Given the description of an element on the screen output the (x, y) to click on. 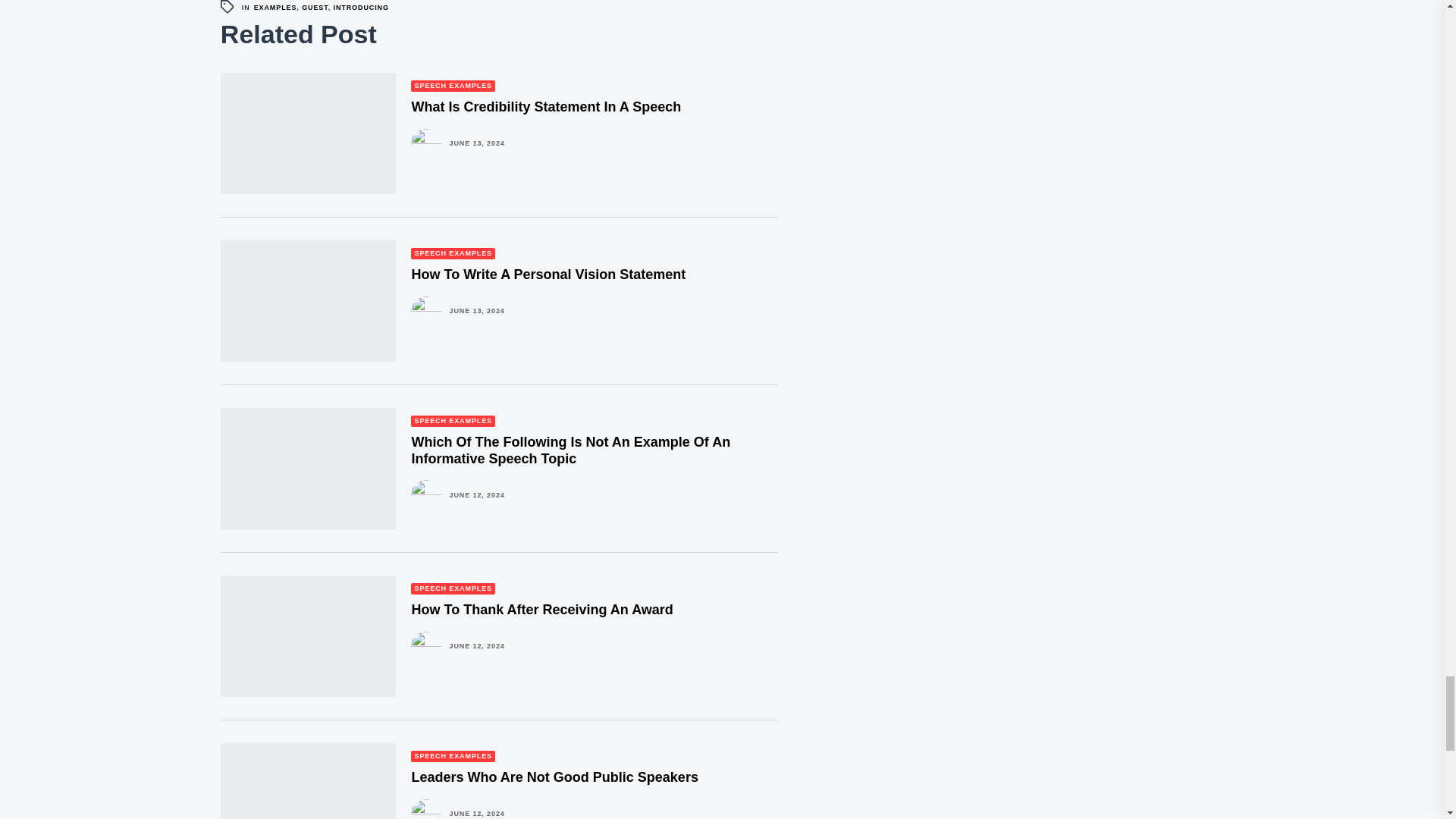
INTRODUCING (360, 7)
EXAMPLES (275, 7)
GUEST (315, 7)
